Given the description of an element on the screen output the (x, y) to click on. 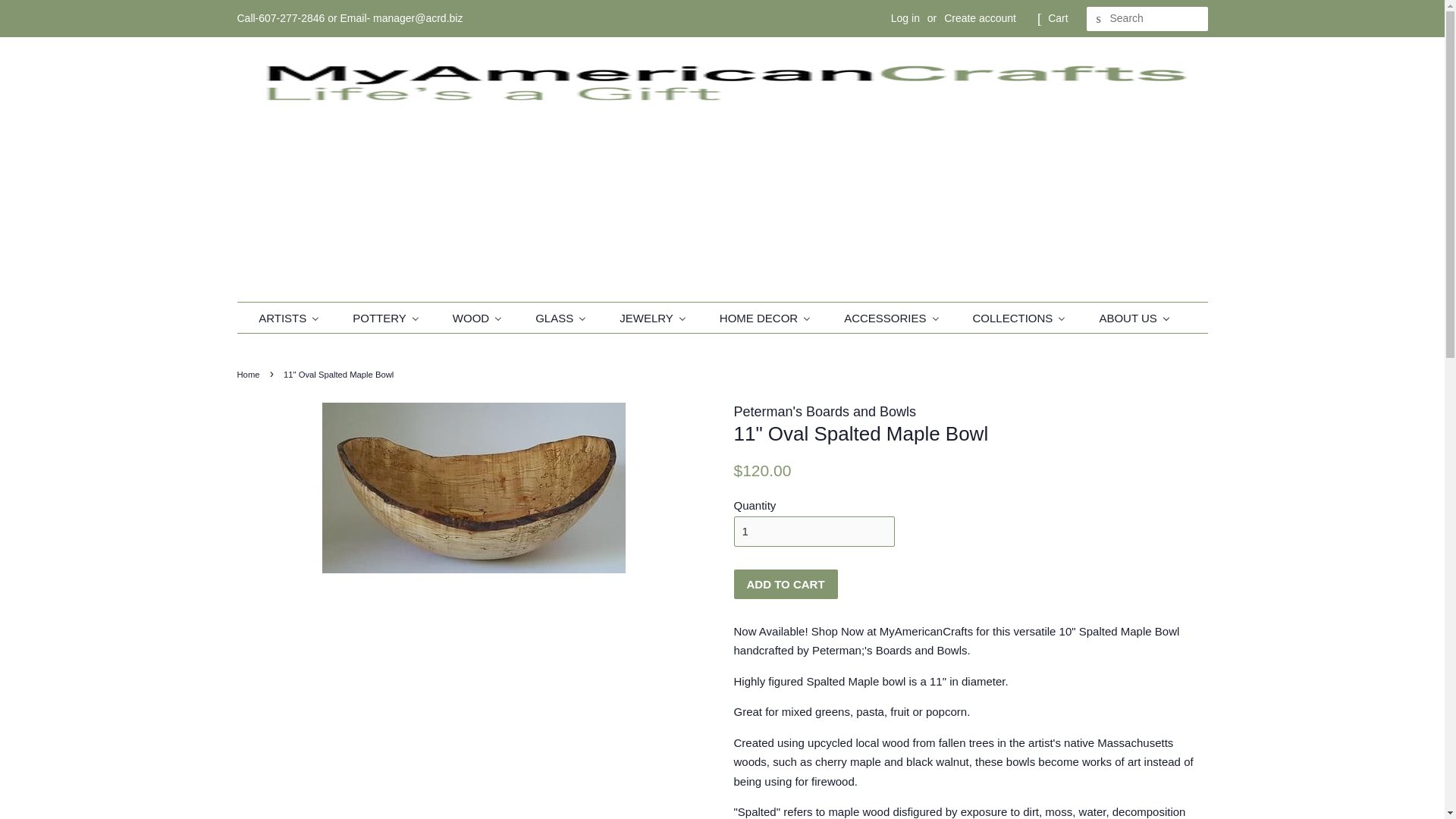
Create account (979, 18)
SEARCH (1097, 18)
Log in (905, 18)
Back to the frontpage (249, 374)
1 (814, 531)
Cart (1057, 18)
